Given the description of an element on the screen output the (x, y) to click on. 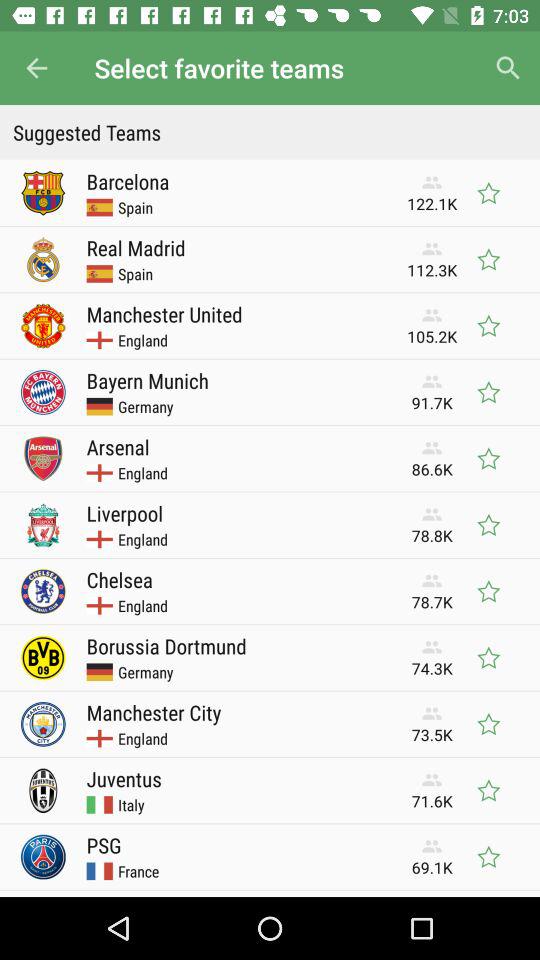
select the item below the psg item (138, 871)
